Given the description of an element on the screen output the (x, y) to click on. 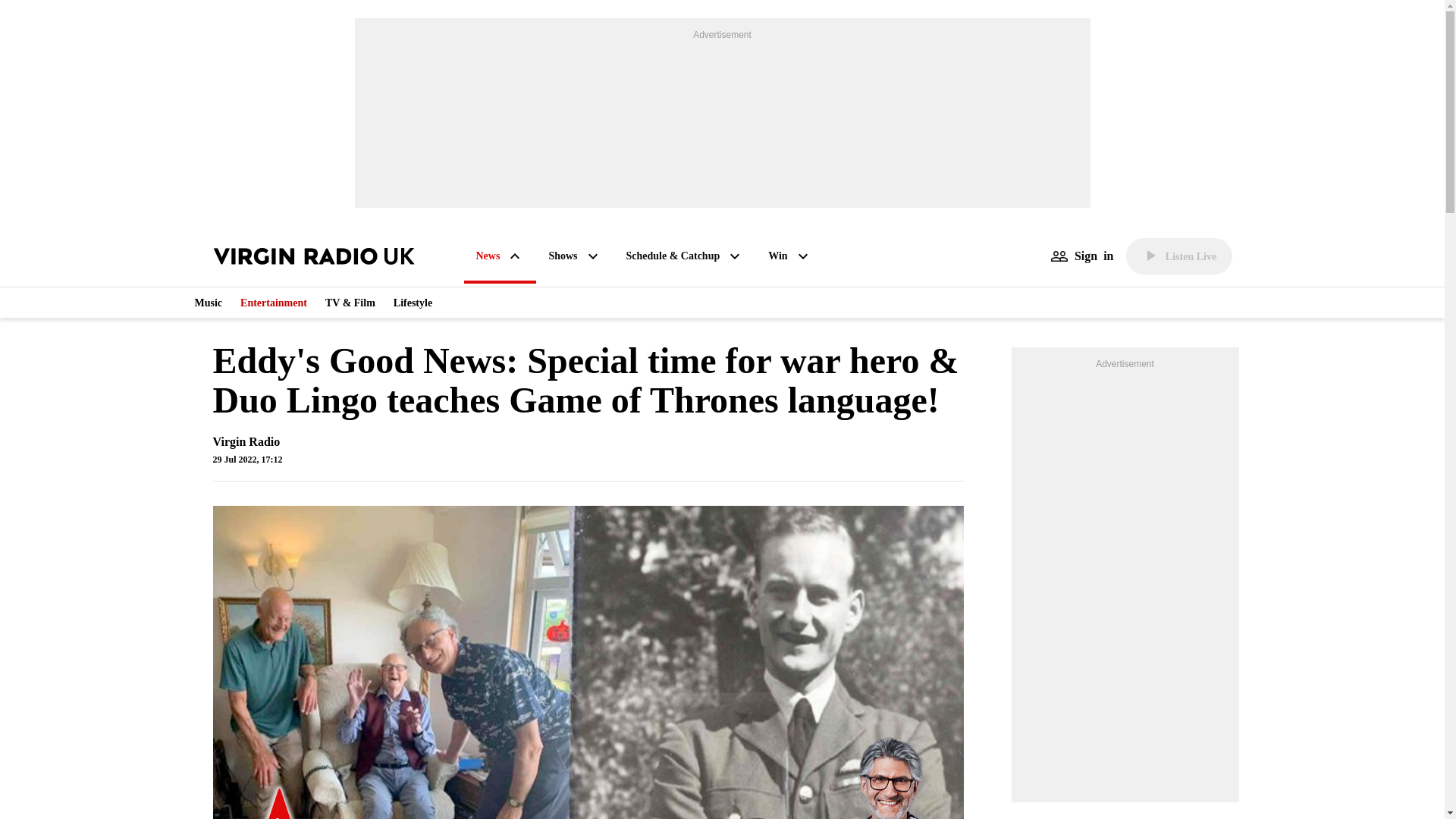
Entertainment (273, 302)
Entertainment (273, 302)
News (500, 257)
Shows (573, 255)
Win (789, 255)
Win (789, 255)
Listen Live (1178, 256)
Listen Live (1178, 256)
